Given the description of an element on the screen output the (x, y) to click on. 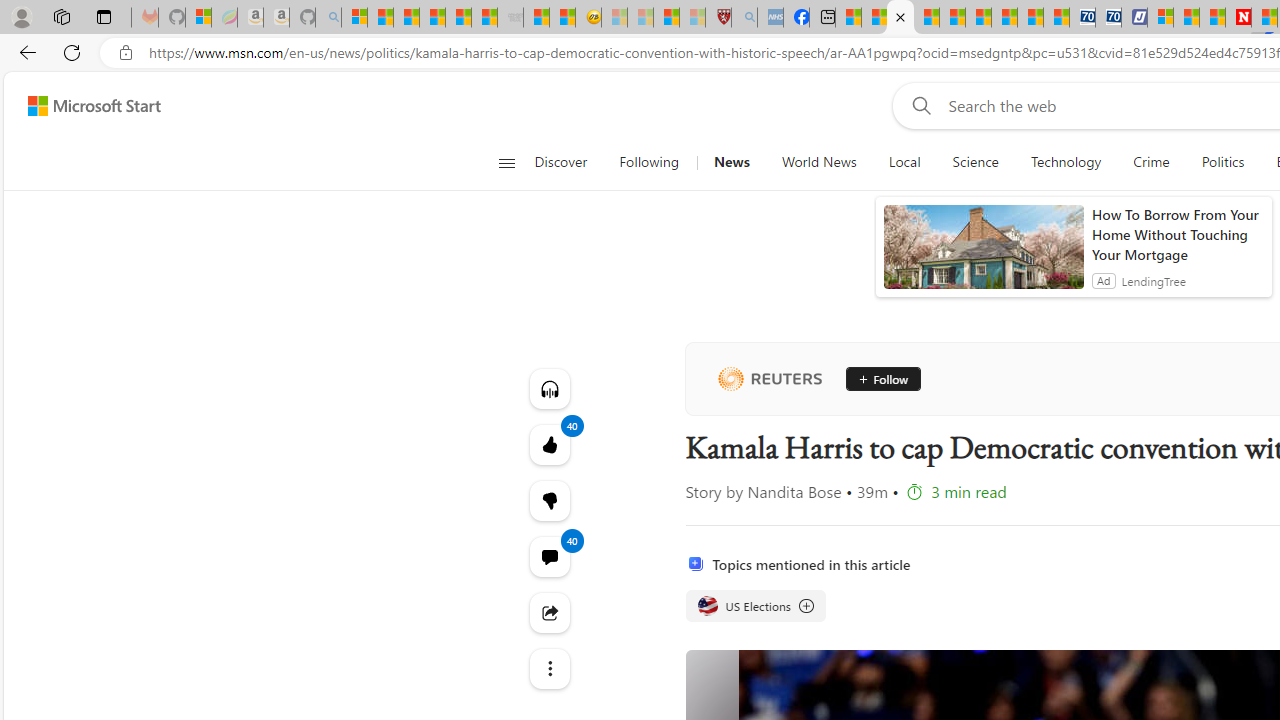
Combat Siege - Sleeping (510, 17)
Newsweek - News, Analysis, Politics, Business, Technology (1238, 17)
